Given the description of an element on the screen output the (x, y) to click on. 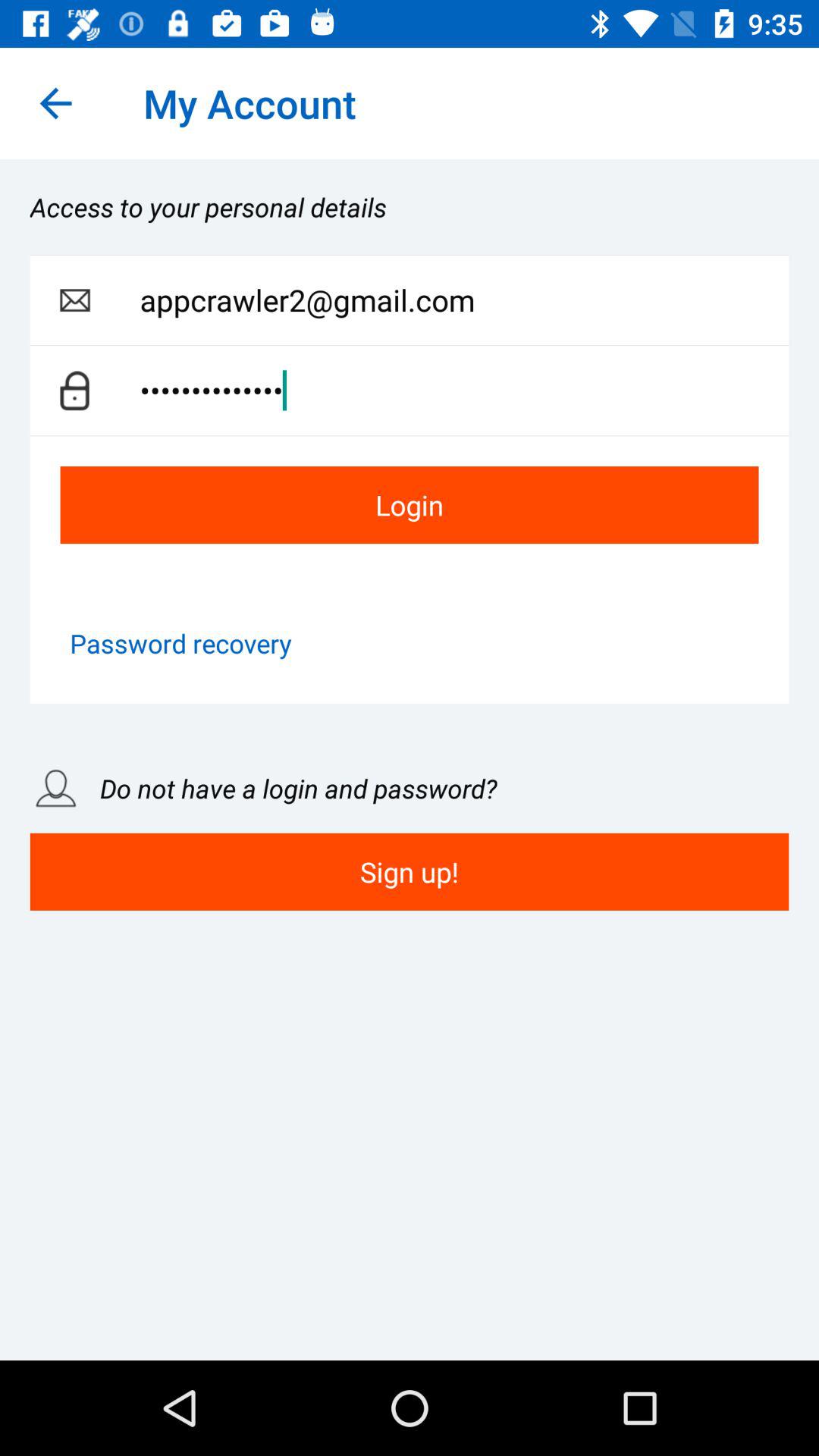
scroll to the appcrawler2@gmail.com item (463, 300)
